Given the description of an element on the screen output the (x, y) to click on. 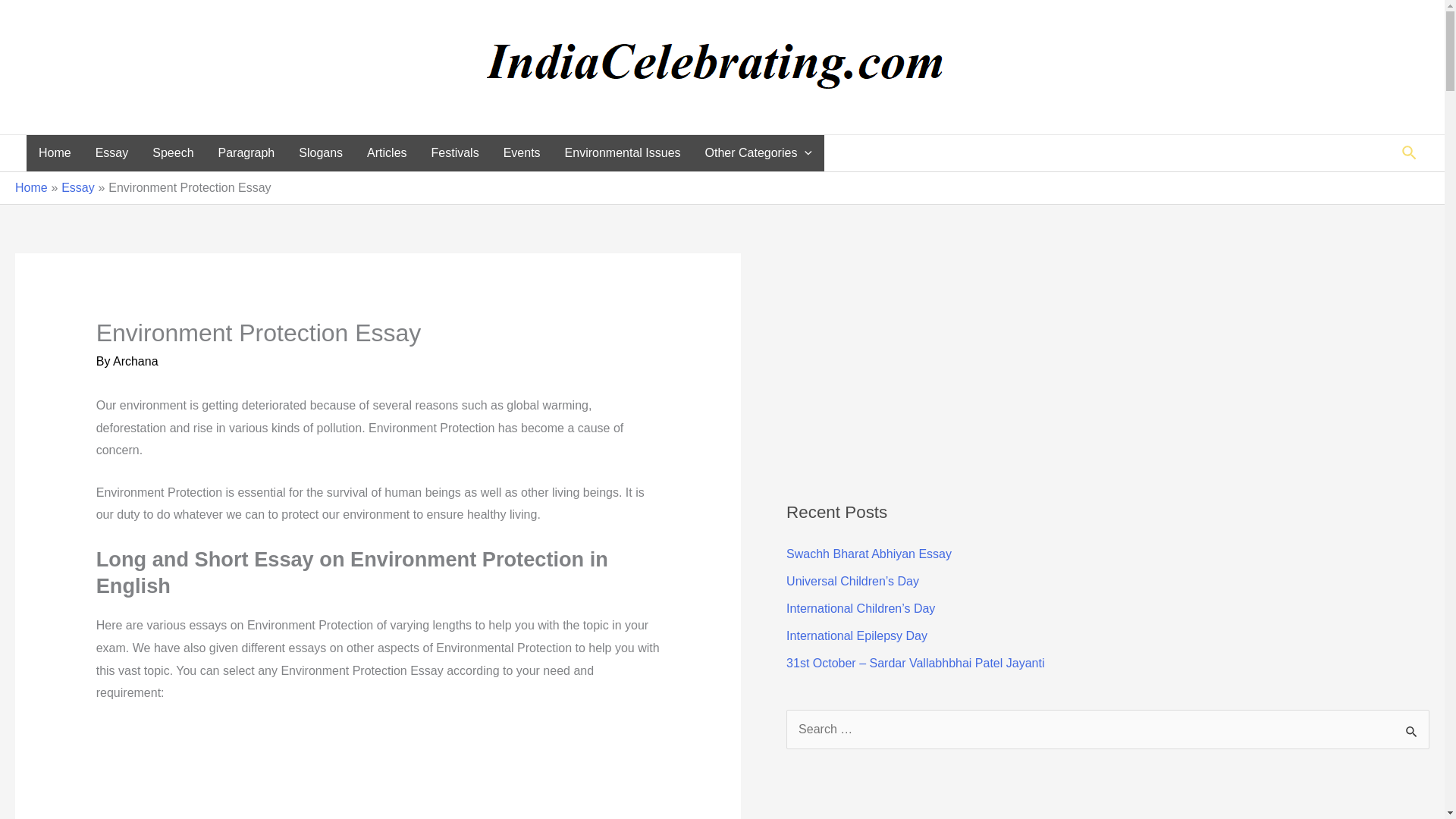
Articles (387, 153)
Events (522, 153)
Other Categories (758, 153)
Speech (172, 153)
Essay (111, 153)
Advertisement (378, 771)
Essay (77, 187)
Environmental Issues (623, 153)
Archana (135, 360)
Festivals (455, 153)
Paragraph (246, 153)
Home (54, 153)
Advertisement (928, 359)
Advertisement (928, 800)
View all posts by Archana (135, 360)
